Given the description of an element on the screen output the (x, y) to click on. 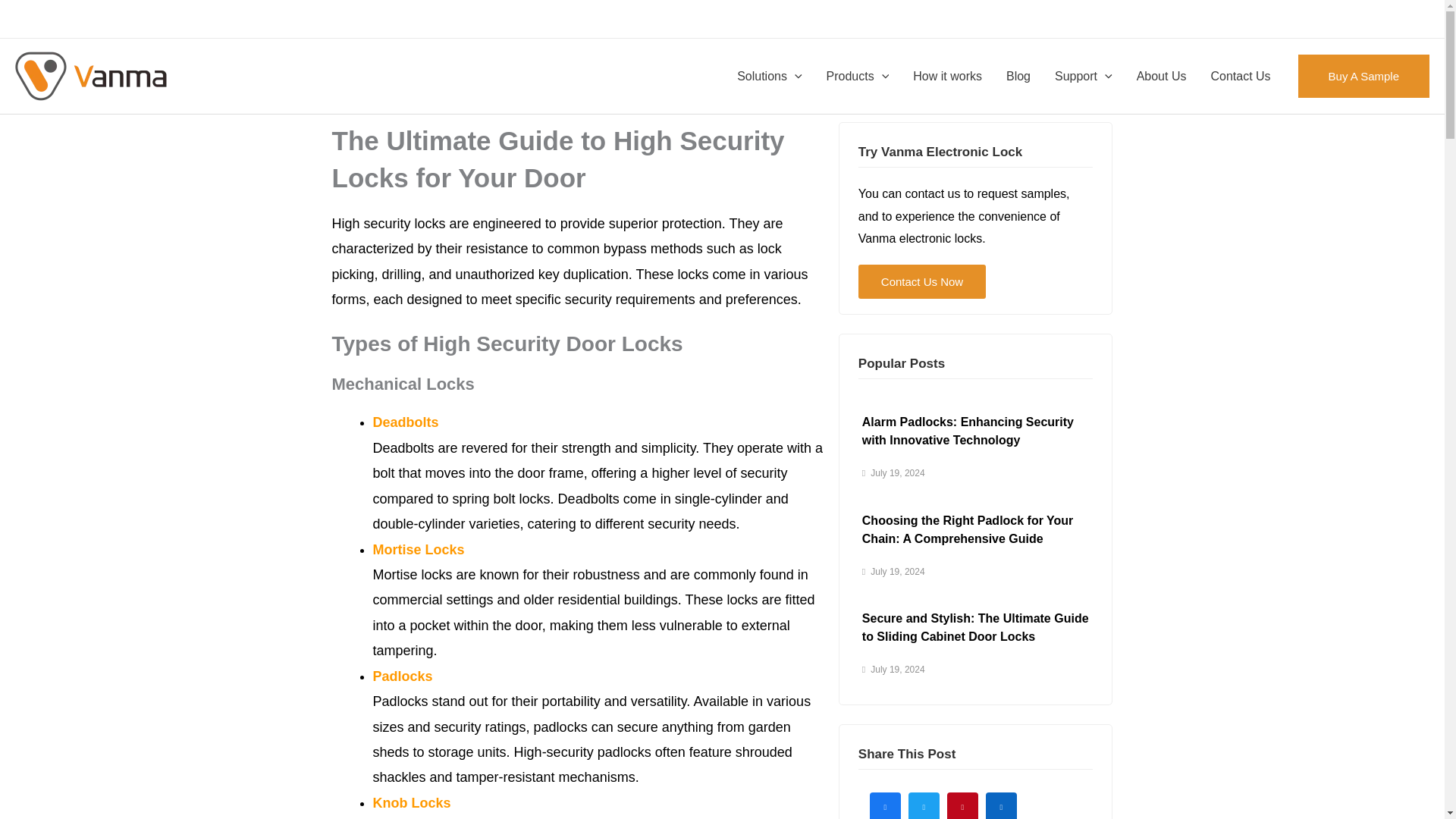
Support (1083, 76)
Products (857, 76)
How it works (947, 76)
About Us (1161, 76)
Solutions (769, 76)
Contact Us (1240, 76)
Buy A Sample (1363, 76)
